Given the description of an element on the screen output the (x, y) to click on. 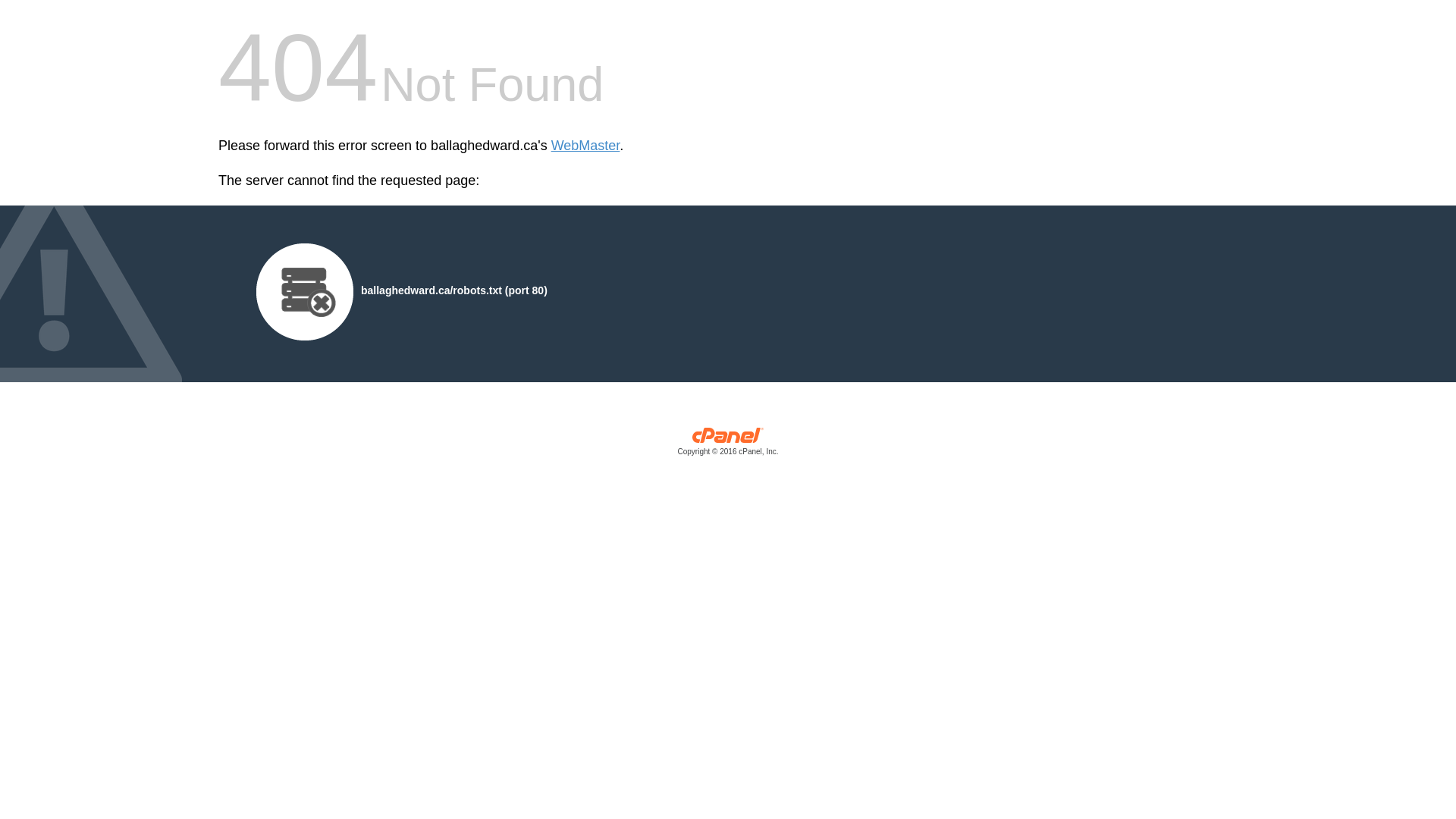
WebMaster Element type: text (585, 145)
